Given the description of an element on the screen output the (x, y) to click on. 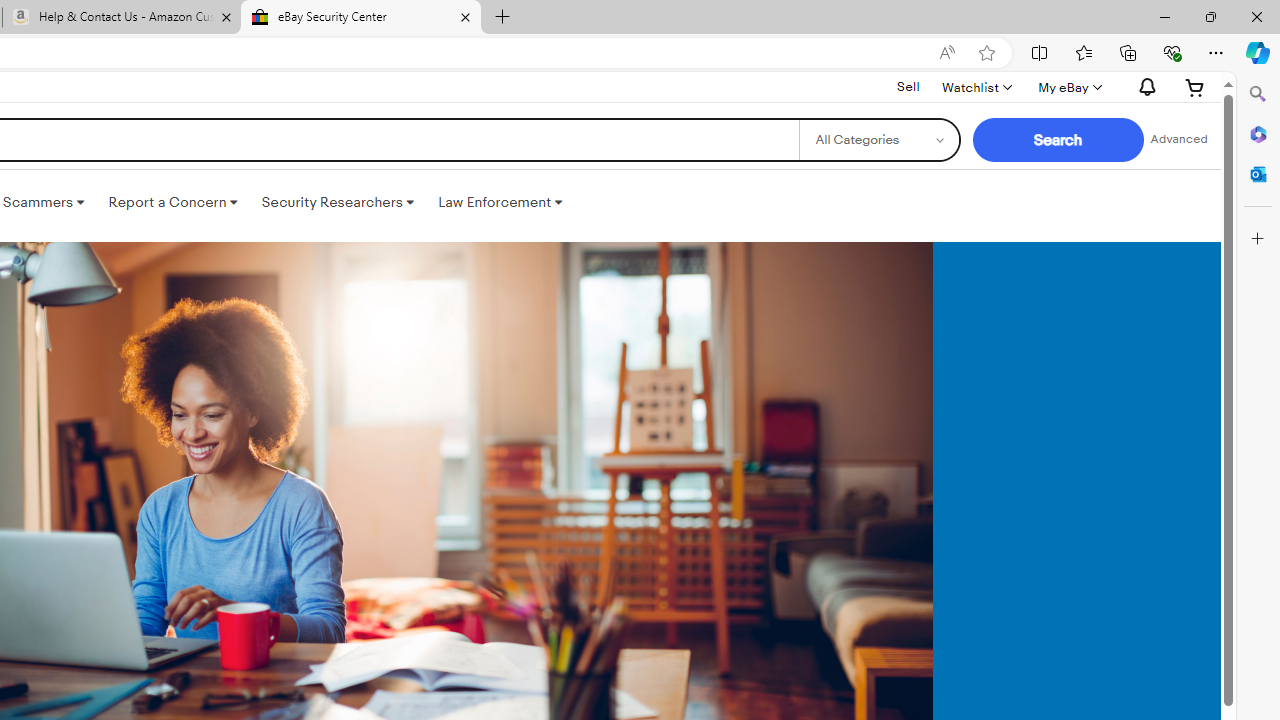
Advanced Search (1179, 139)
Your shopping cart (1195, 87)
Sell (907, 86)
Security Researchers  (337, 202)
Watchlist (975, 87)
Report a Concern  (173, 202)
Report a Concern  (173, 202)
My eBay (1068, 87)
WatchlistExpand Watch List (975, 87)
My eBayExpand My eBay (1068, 87)
Microsoft 365 (1258, 133)
